Given the description of an element on the screen output the (x, y) to click on. 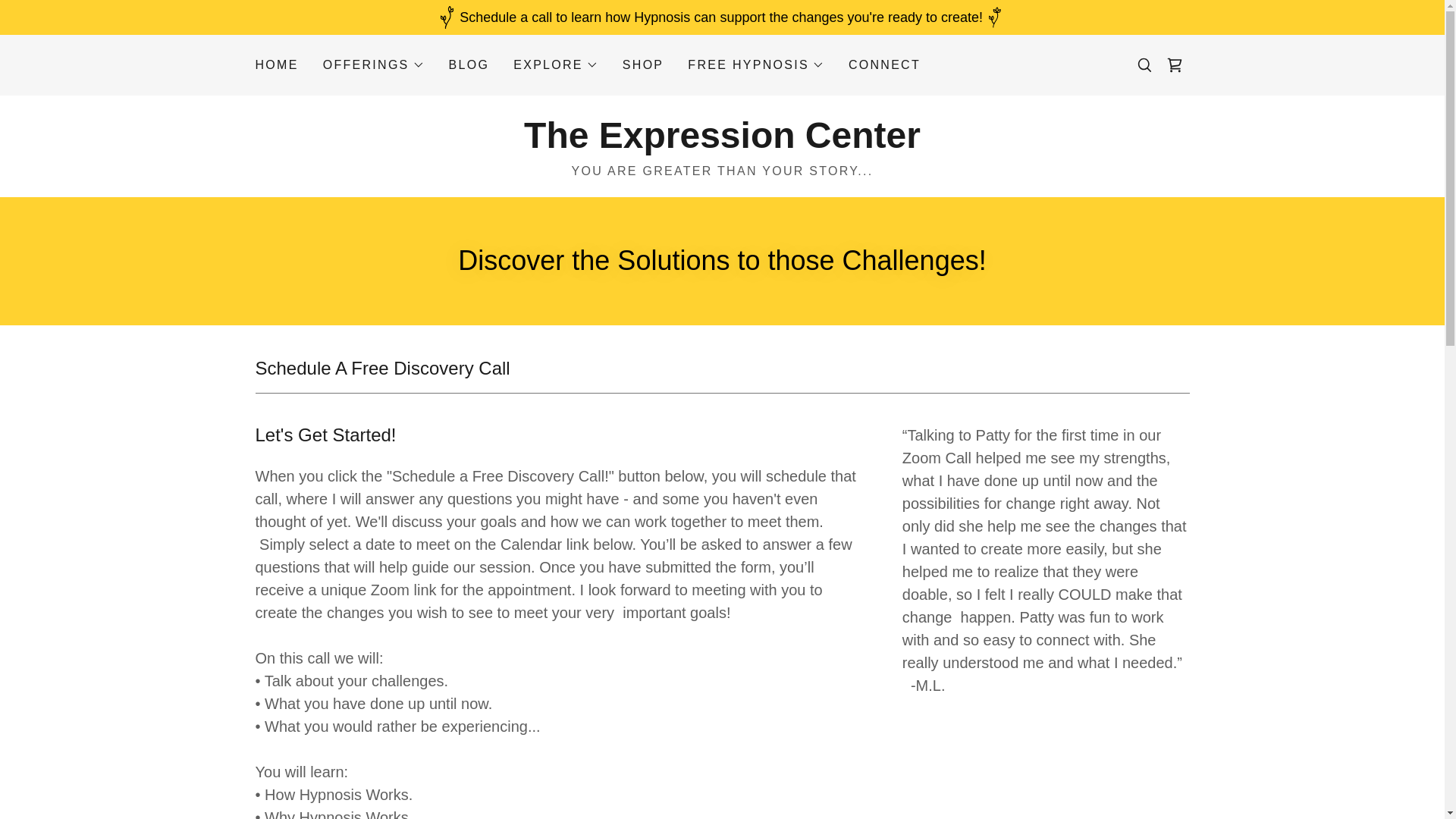
HOME (276, 64)
The Expression Center (721, 142)
BLOG (469, 64)
FREE HYPNOSIS (755, 65)
SHOP (642, 64)
CONNECT (884, 64)
EXPLORE (555, 65)
OFFERINGS (374, 65)
